Given the description of an element on the screen output the (x, y) to click on. 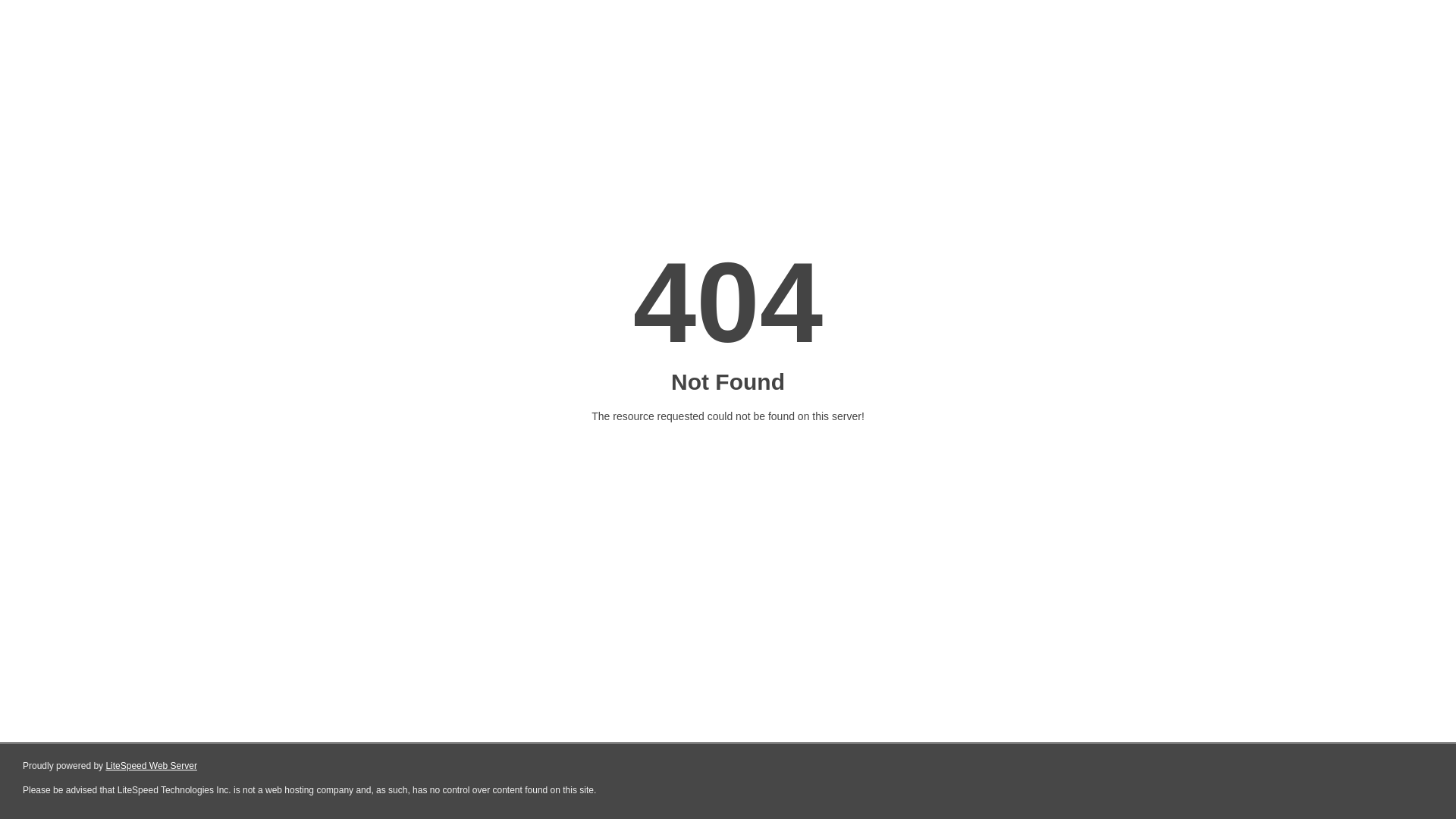
LiteSpeed Web Server Element type: text (151, 765)
